Given the description of an element on the screen output the (x, y) to click on. 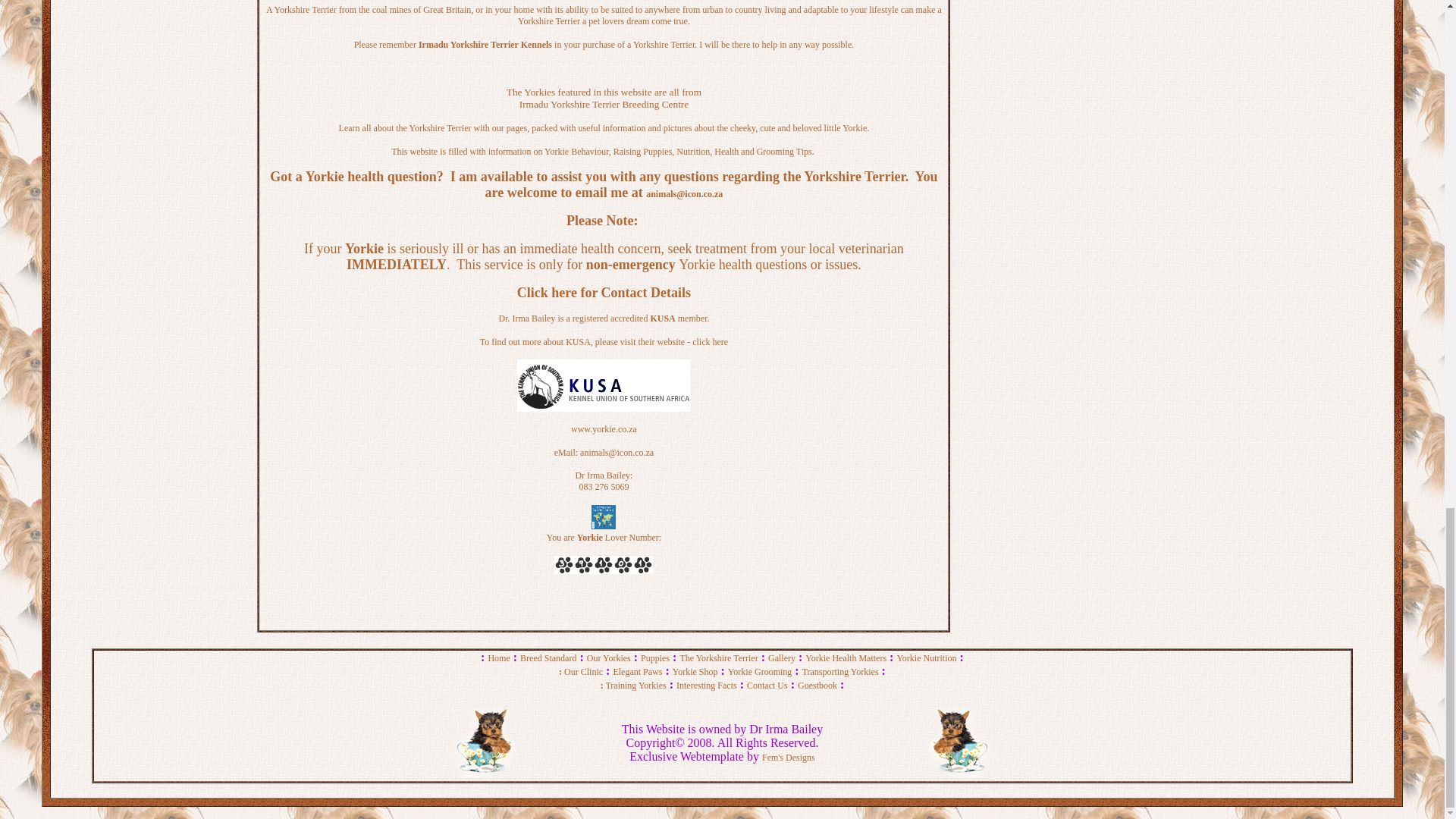
click here (710, 341)
Home (498, 657)
www.yorkie.co.za (603, 429)
Yorkie Health Matters (845, 657)
Transporting Yorkies (840, 671)
: Training Yorkies (632, 685)
: Our Clinic (580, 671)
Breed Standard (547, 657)
Our Yorkies (608, 657)
The Yorkshire Terrier (718, 657)
Gallery (781, 657)
Click here for Contact Details (603, 294)
Puppies (654, 657)
Yorkie Grooming (760, 671)
Yorkie Shop (694, 671)
